Given the description of an element on the screen output the (x, y) to click on. 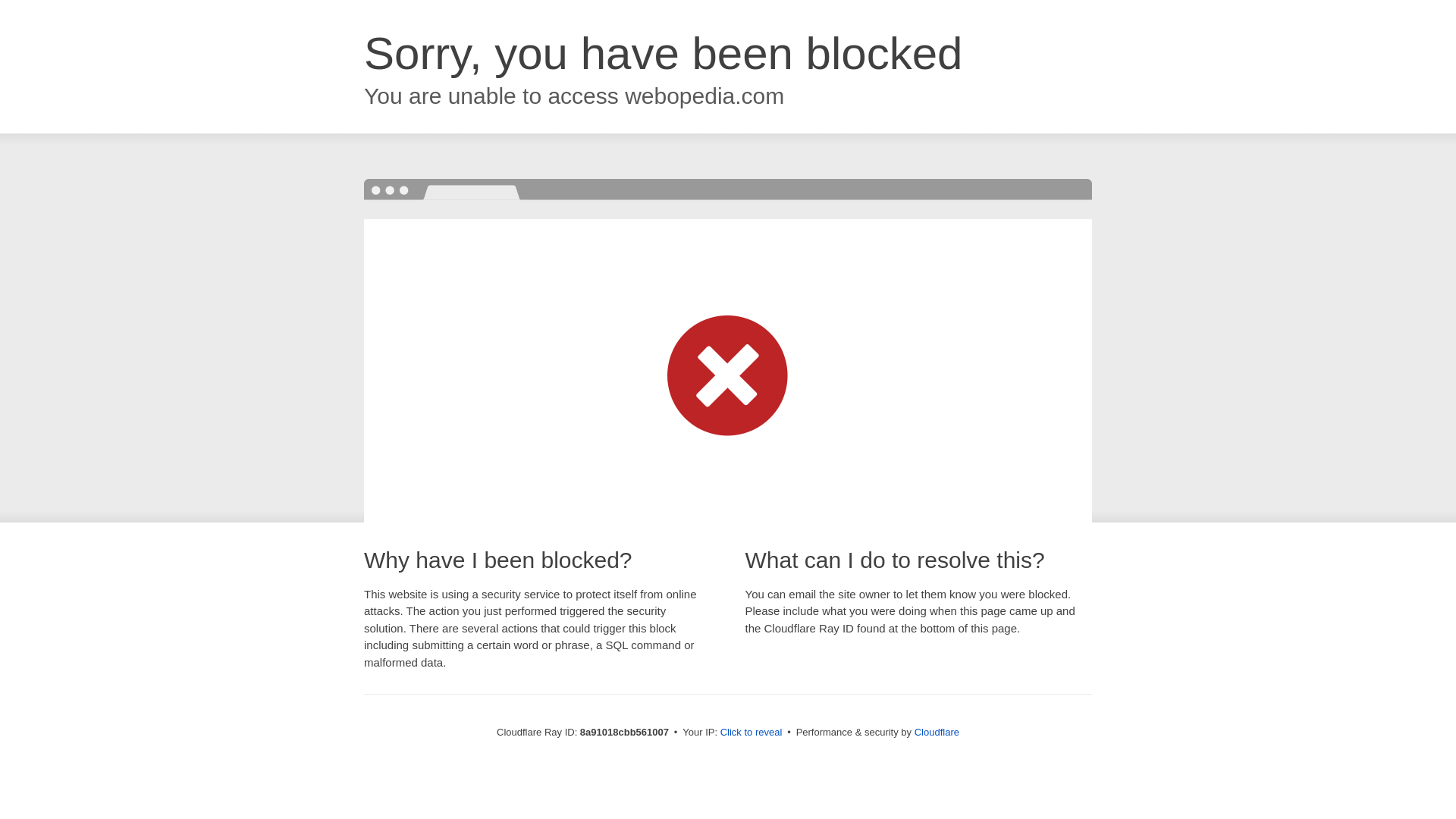
Click to reveal (751, 732)
Cloudflare (936, 731)
